Given the description of an element on the screen output the (x, y) to click on. 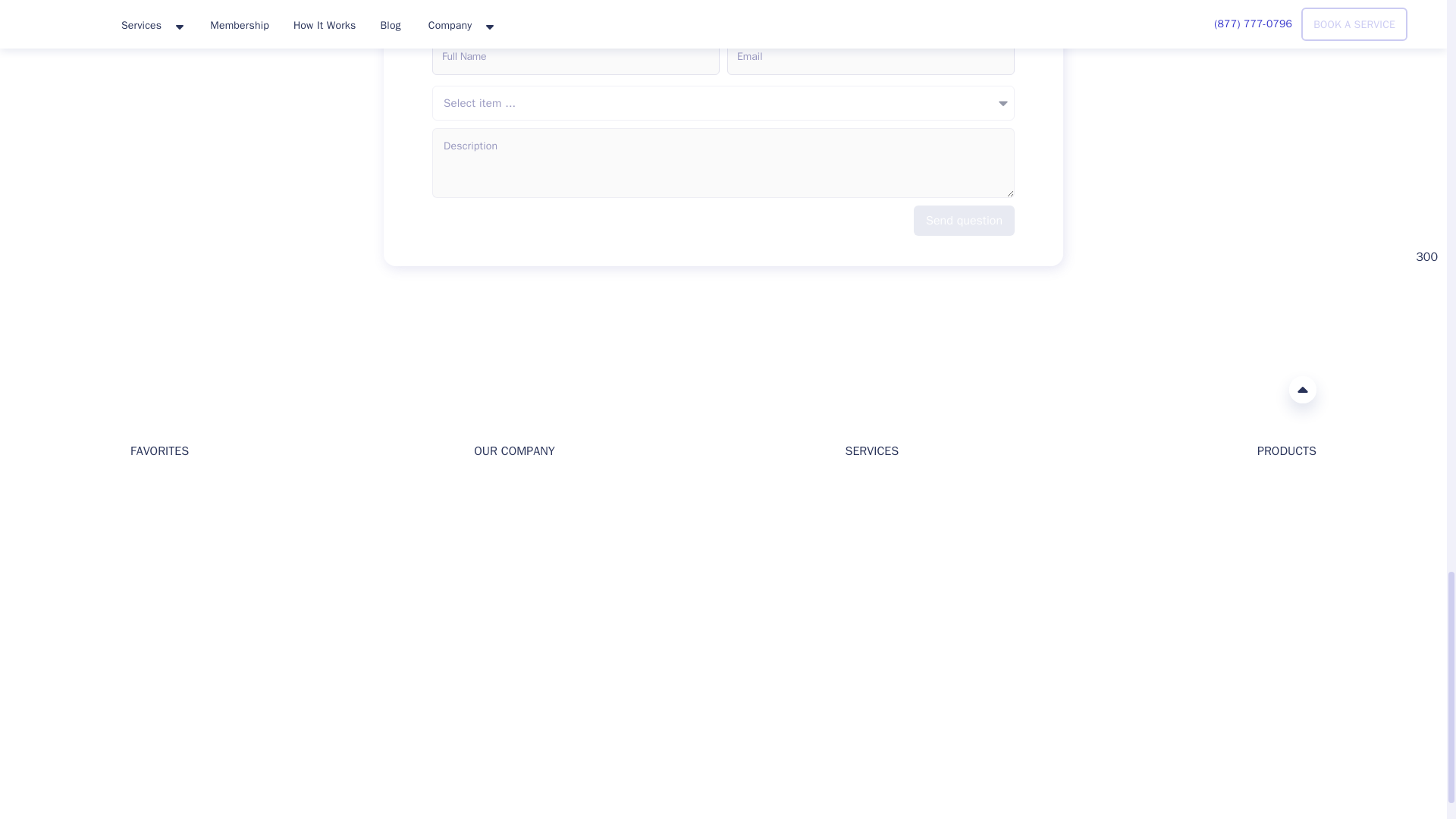
About Us (496, 487)
HomeAlliance (146, 388)
Blog (141, 512)
How It Works (506, 535)
Welcome (152, 487)
Home Alliance Support (139, 714)
Select item ... (723, 102)
Locations (154, 560)
Membership (160, 584)
Send question (964, 220)
